Given the description of an element on the screen output the (x, y) to click on. 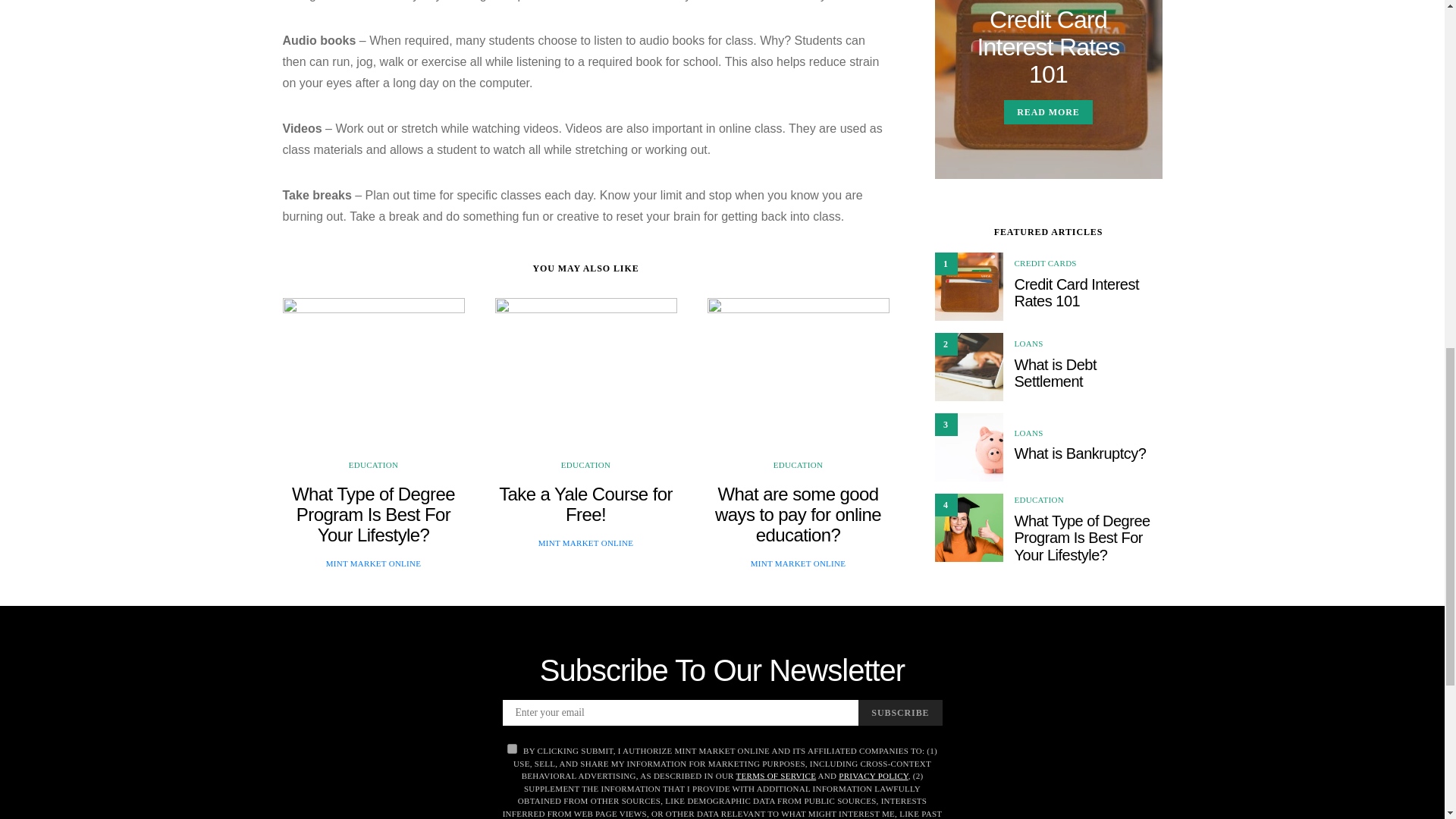
View all posts by Mint Market Online (798, 562)
on (511, 748)
View all posts by Mint Market Online (374, 562)
View all posts by Mint Market Online (585, 542)
